Given the description of an element on the screen output the (x, y) to click on. 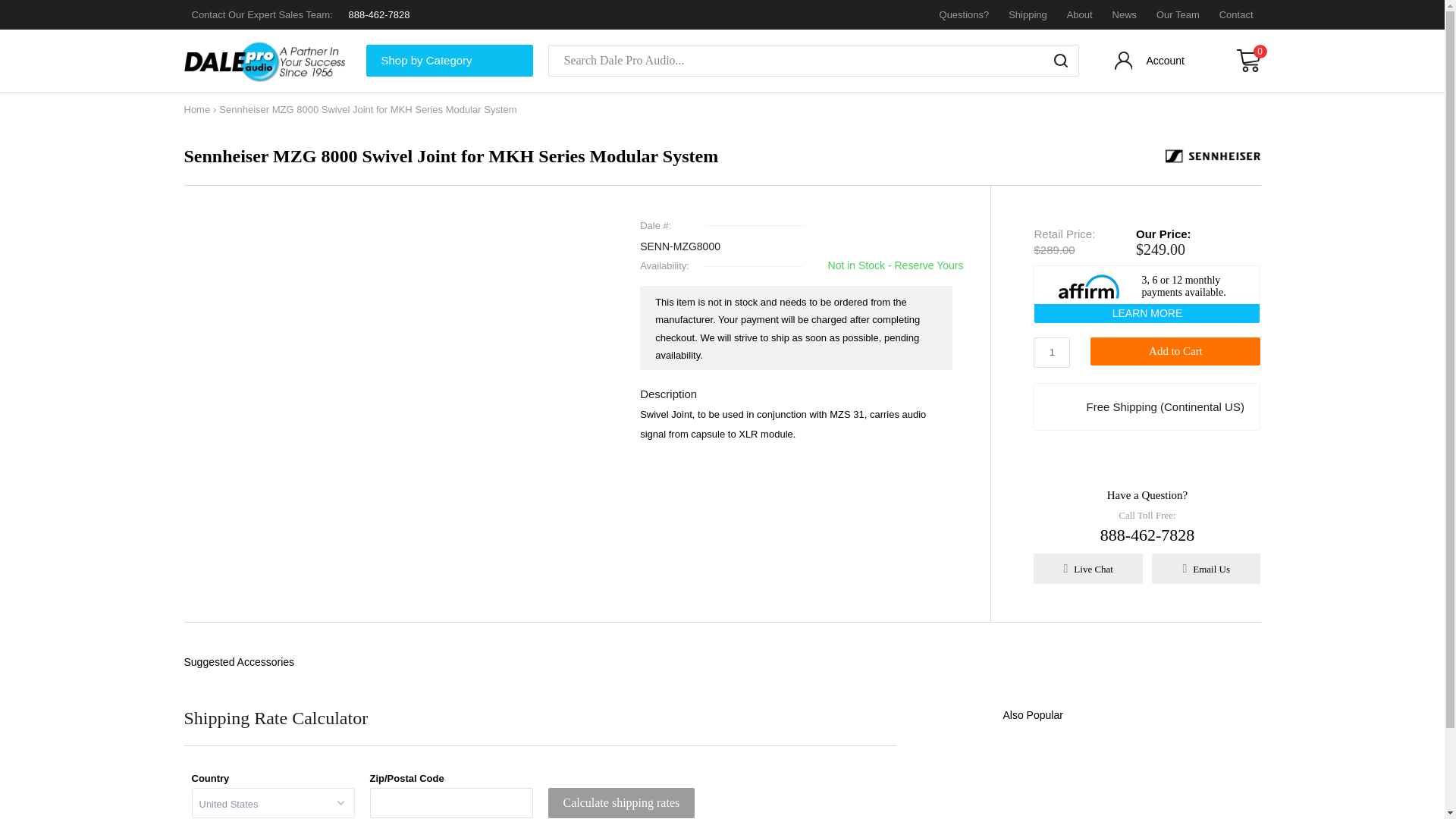
Our Team (1177, 14)
Calculate shipping rates (620, 802)
Account (1151, 63)
Dale Pro Audio (266, 61)
News (1124, 14)
888-462-7828 (379, 14)
Home (196, 109)
Shop by Category (448, 60)
Account  (1151, 63)
Questions? (964, 14)
